Given the description of an element on the screen output the (x, y) to click on. 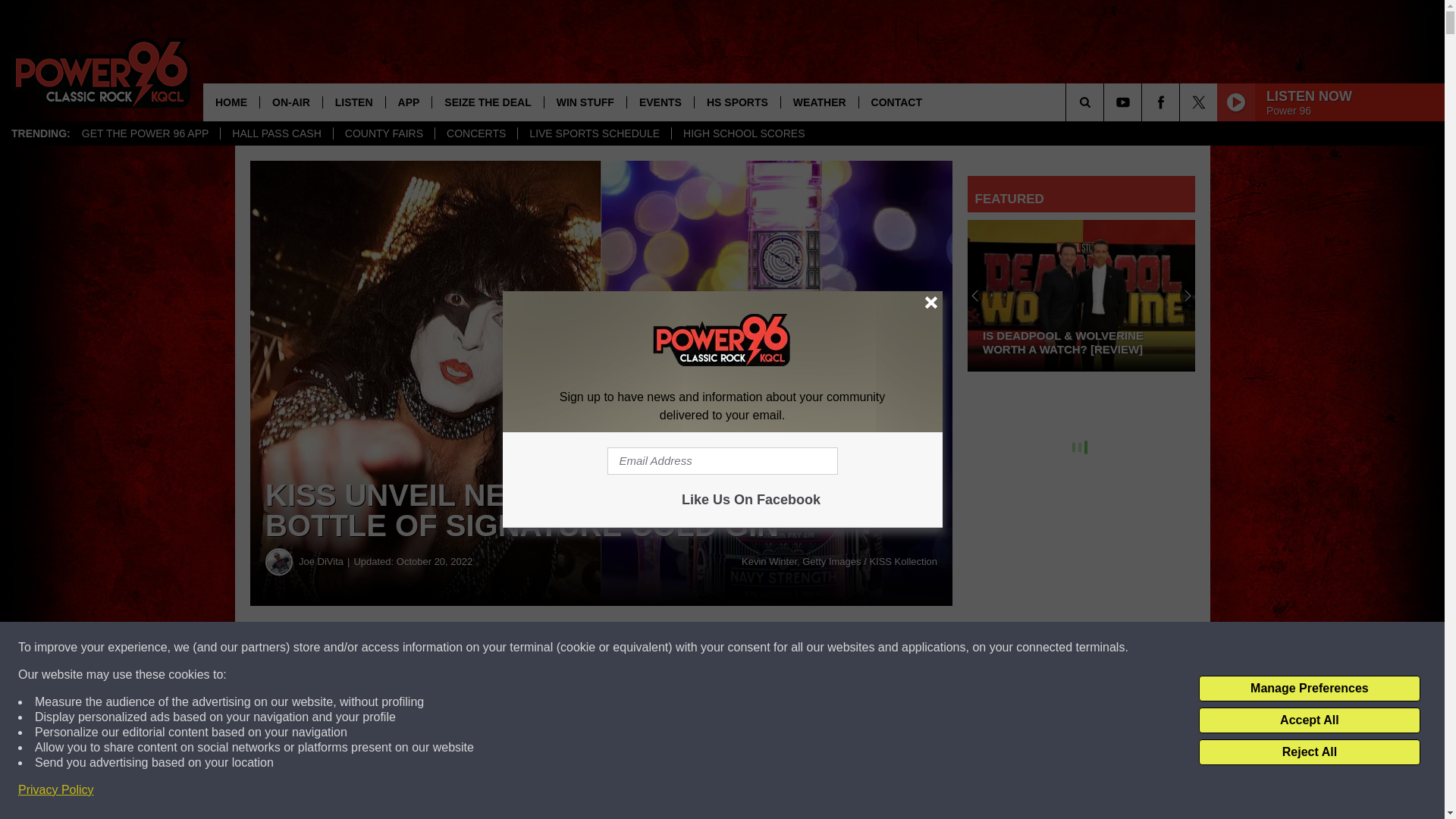
EVENTS (660, 102)
Email Address (722, 461)
Share on Facebook (460, 647)
CONCERTS (474, 133)
HS SPORTS (737, 102)
ON-AIR (290, 102)
HIGH SCHOOL SCORES (743, 133)
Share on Twitter (741, 647)
Manage Preferences (1309, 688)
Reject All (1309, 751)
SEARCH (1106, 102)
LIVE SPORTS SCHEDULE (593, 133)
SEIZE THE DEAL (486, 102)
SEARCH (1106, 102)
COUNTY FAIRS (383, 133)
